Given the description of an element on the screen output the (x, y) to click on. 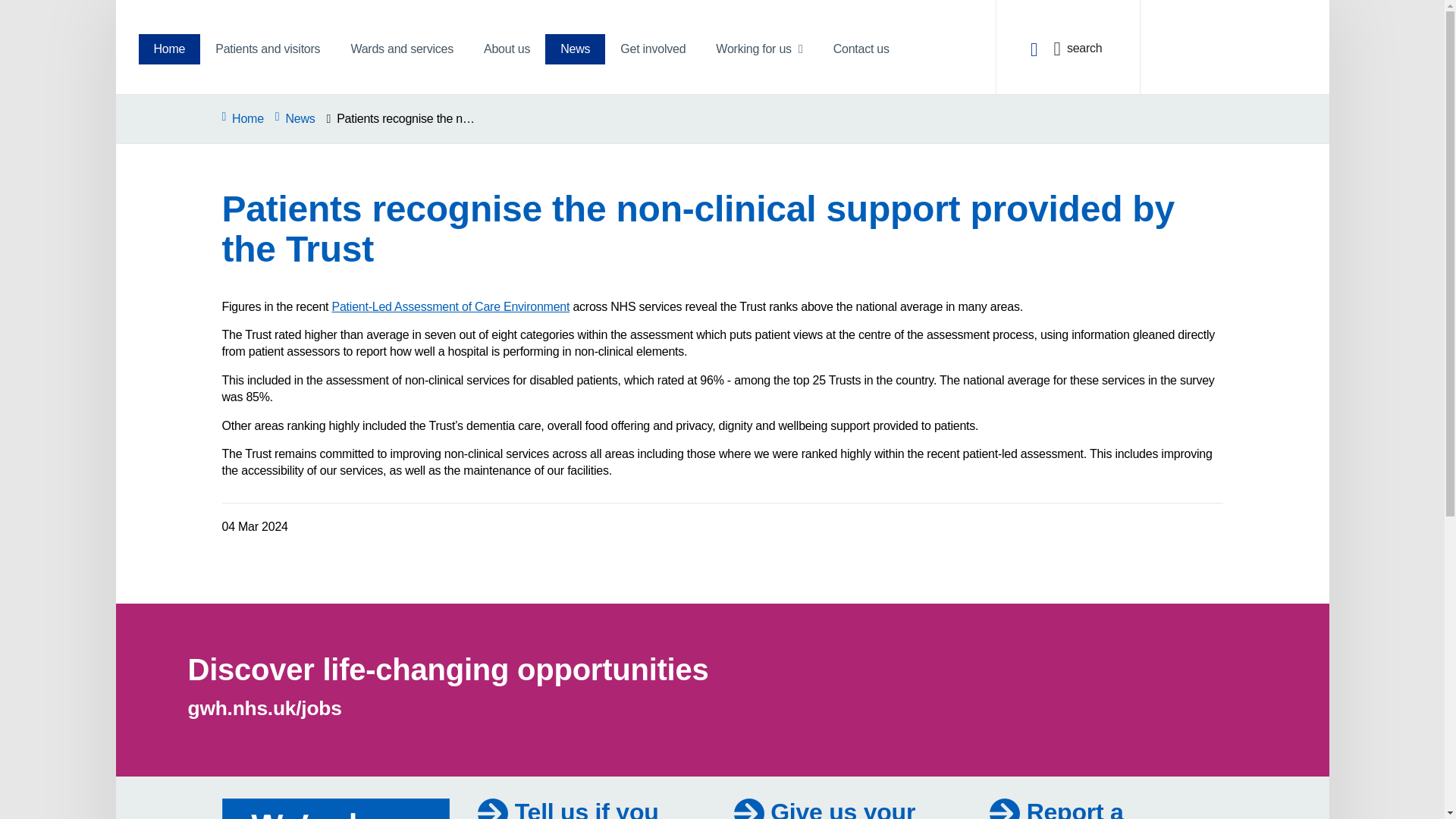
Patients and visitors (267, 49)
Tell us if you need extra support (585, 808)
Skip to main content (17, 13)
Working for us (758, 49)
Feedback (824, 808)
Discover Great Opportunities (448, 669)
Wards and services (401, 49)
News (574, 49)
Patient-Led Assessment of Care Environment (450, 306)
Great Western Hospital logo (1232, 38)
News (295, 118)
Give us your feedback (824, 808)
Get involved (652, 49)
Help accessing our services (585, 808)
Discover Great Opportunities (264, 707)
